Given the description of an element on the screen output the (x, y) to click on. 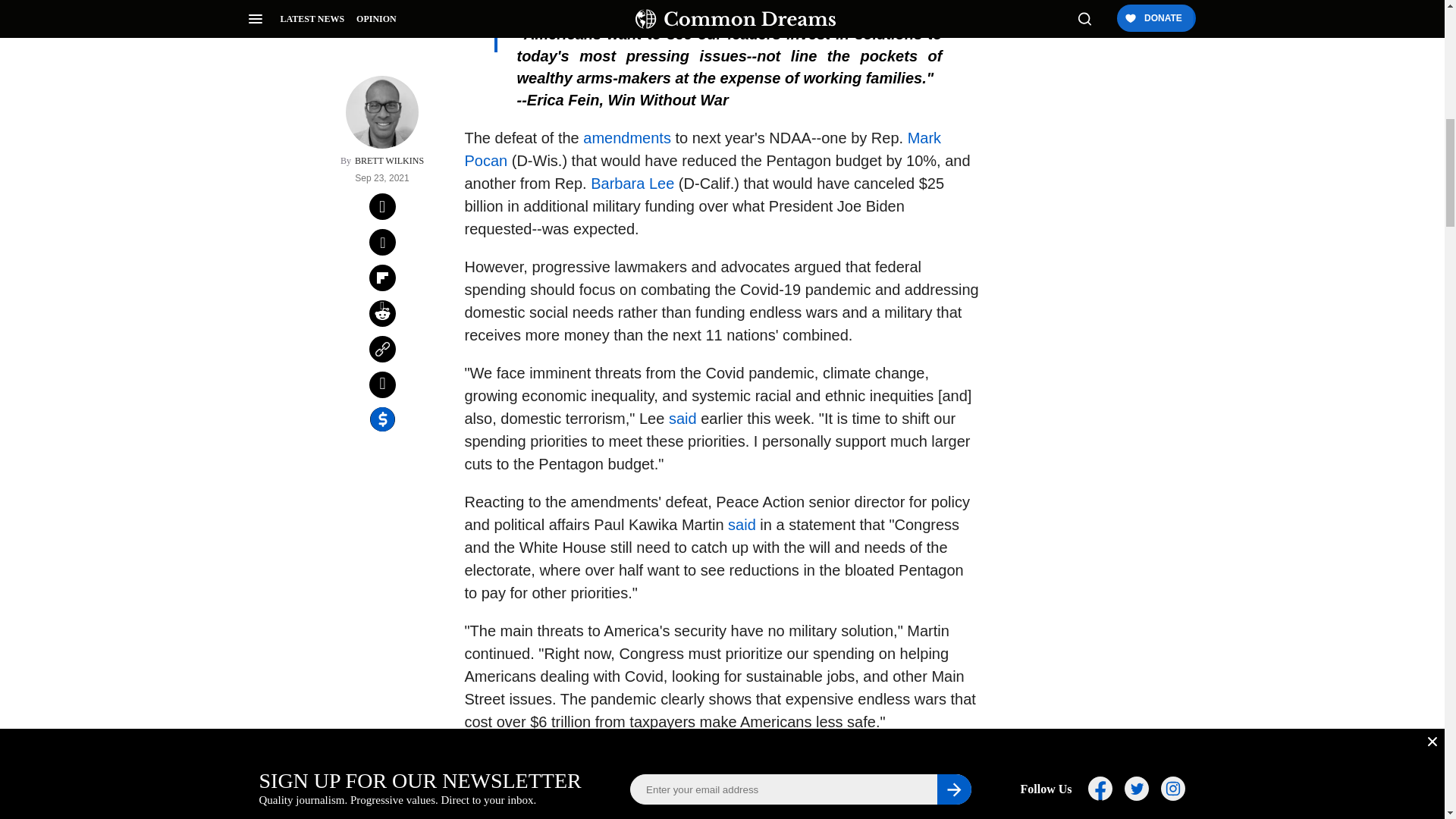
Donate Button (1051, 207)
Copy this link to clipboard (382, 175)
